Given the description of an element on the screen output the (x, y) to click on. 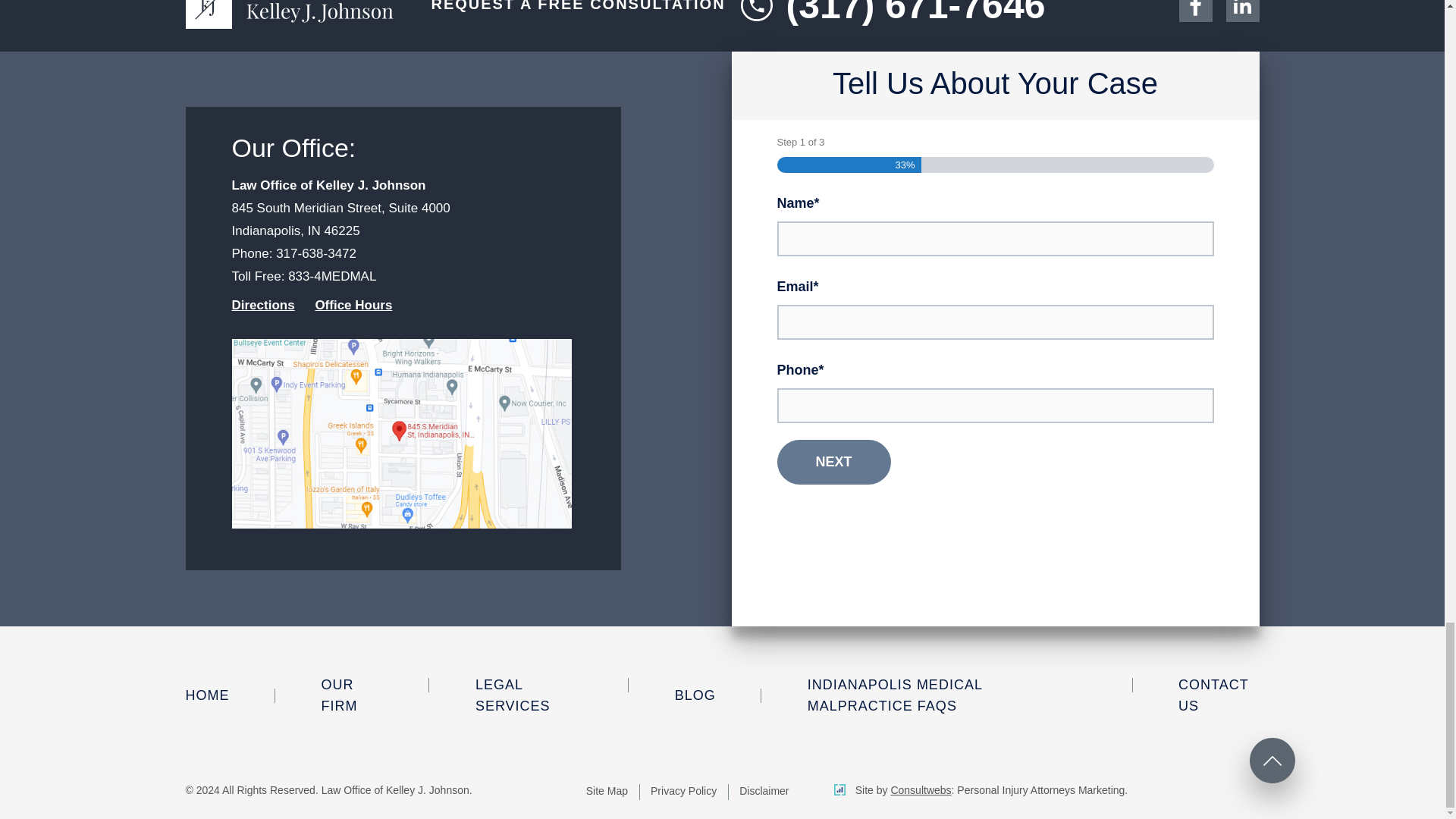
Next (832, 461)
